Given the description of an element on the screen output the (x, y) to click on. 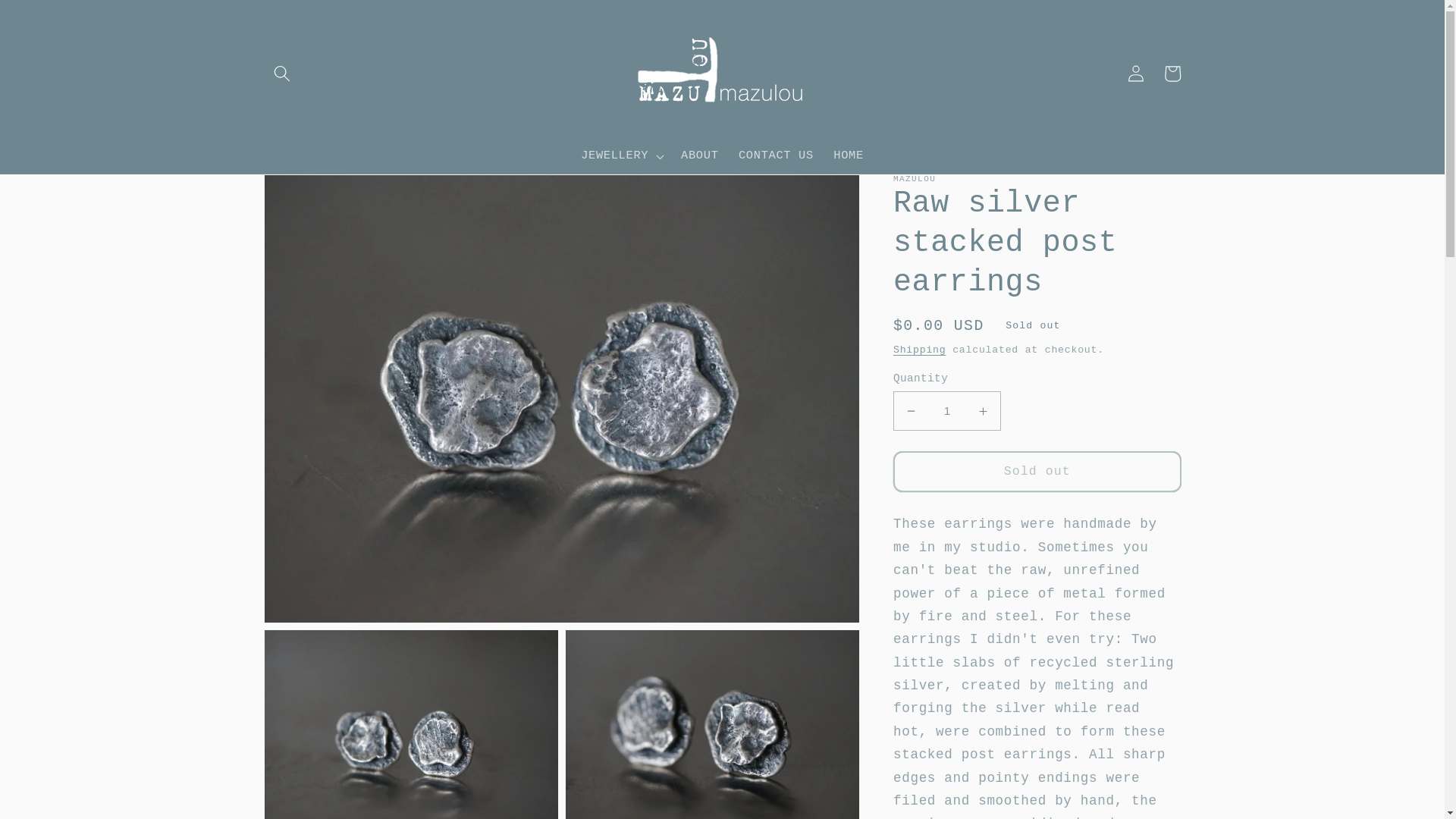
CONTACT US (776, 155)
1 (947, 410)
HOME (848, 155)
Skip to content (50, 20)
ABOUT (700, 155)
